Given the description of an element on the screen output the (x, y) to click on. 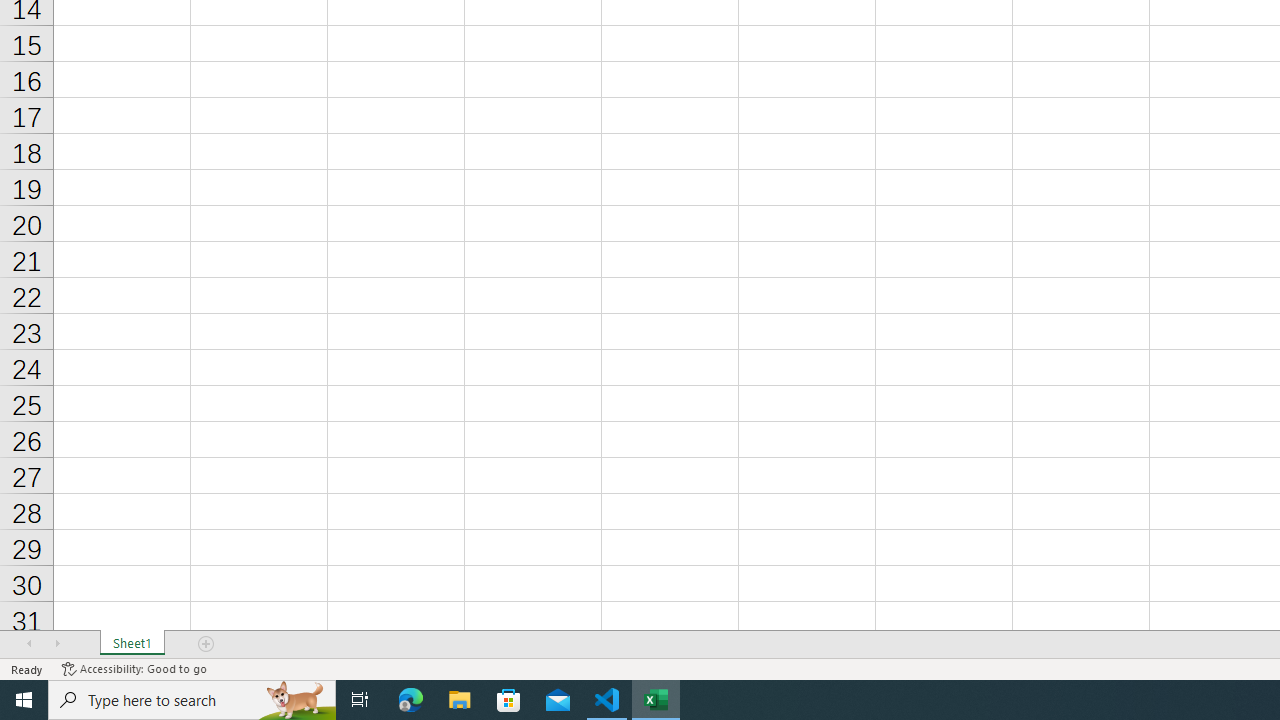
Sheet1 (132, 644)
Scroll Left (29, 644)
Add Sheet (207, 644)
Accessibility Checker Accessibility: Good to go (134, 668)
Scroll Right (57, 644)
